Given the description of an element on the screen output the (x, y) to click on. 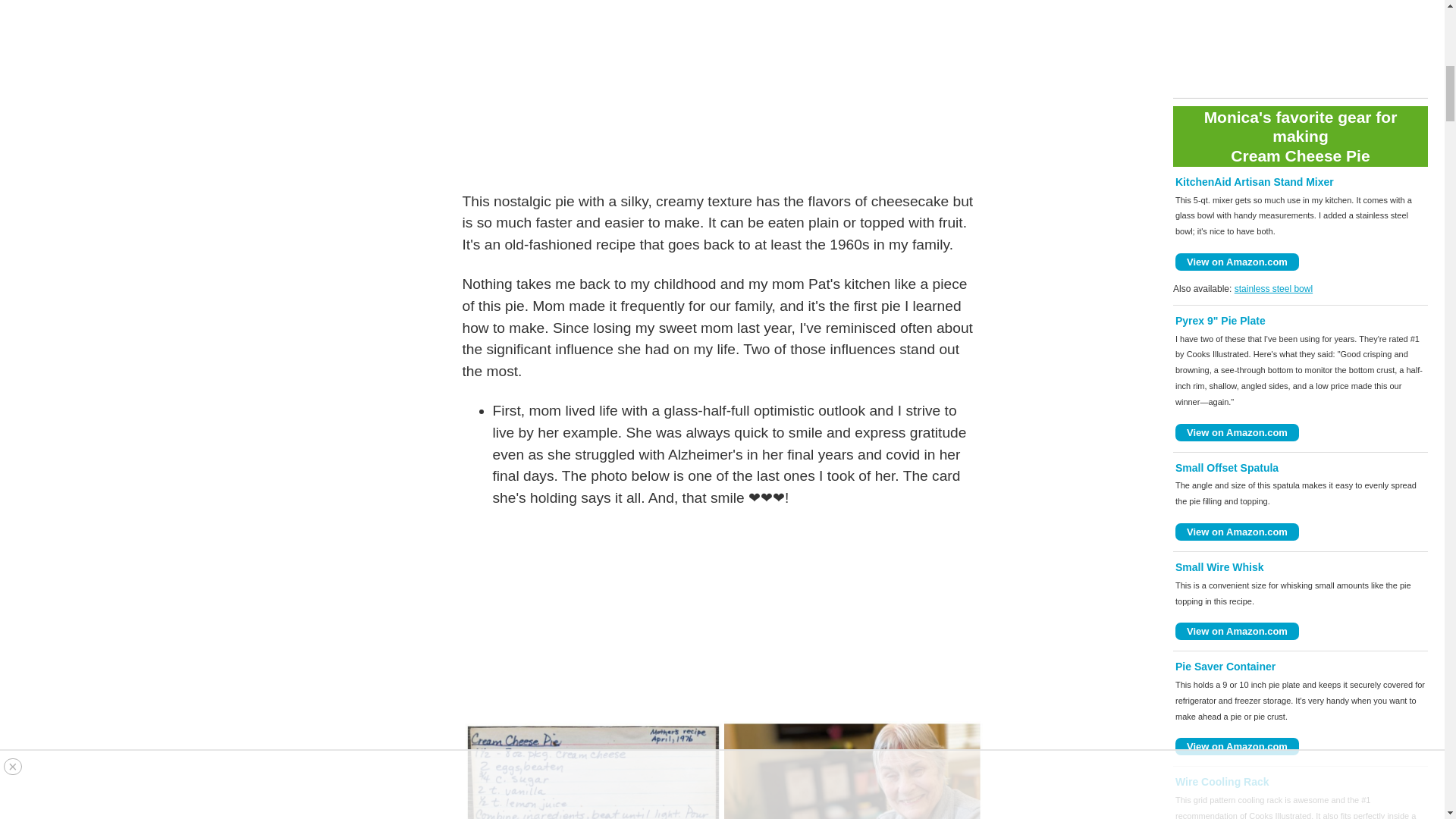
Small Wire Whisk (1218, 567)
View on Amazon.com (1236, 746)
View on Amazon.com (1236, 262)
Pie Saver Container (1224, 666)
View on Amazon.com (1236, 630)
Small Offset Spatula (1226, 467)
stainless steel bowl (1273, 288)
View on Amazon.com (1236, 432)
Pyrex 9" Pie Plate (1219, 320)
KitchenAid Artisan Stand Mixer (1253, 182)
Wire Cooling Rack (1221, 781)
View on Amazon.com (1236, 531)
